Given the description of an element on the screen output the (x, y) to click on. 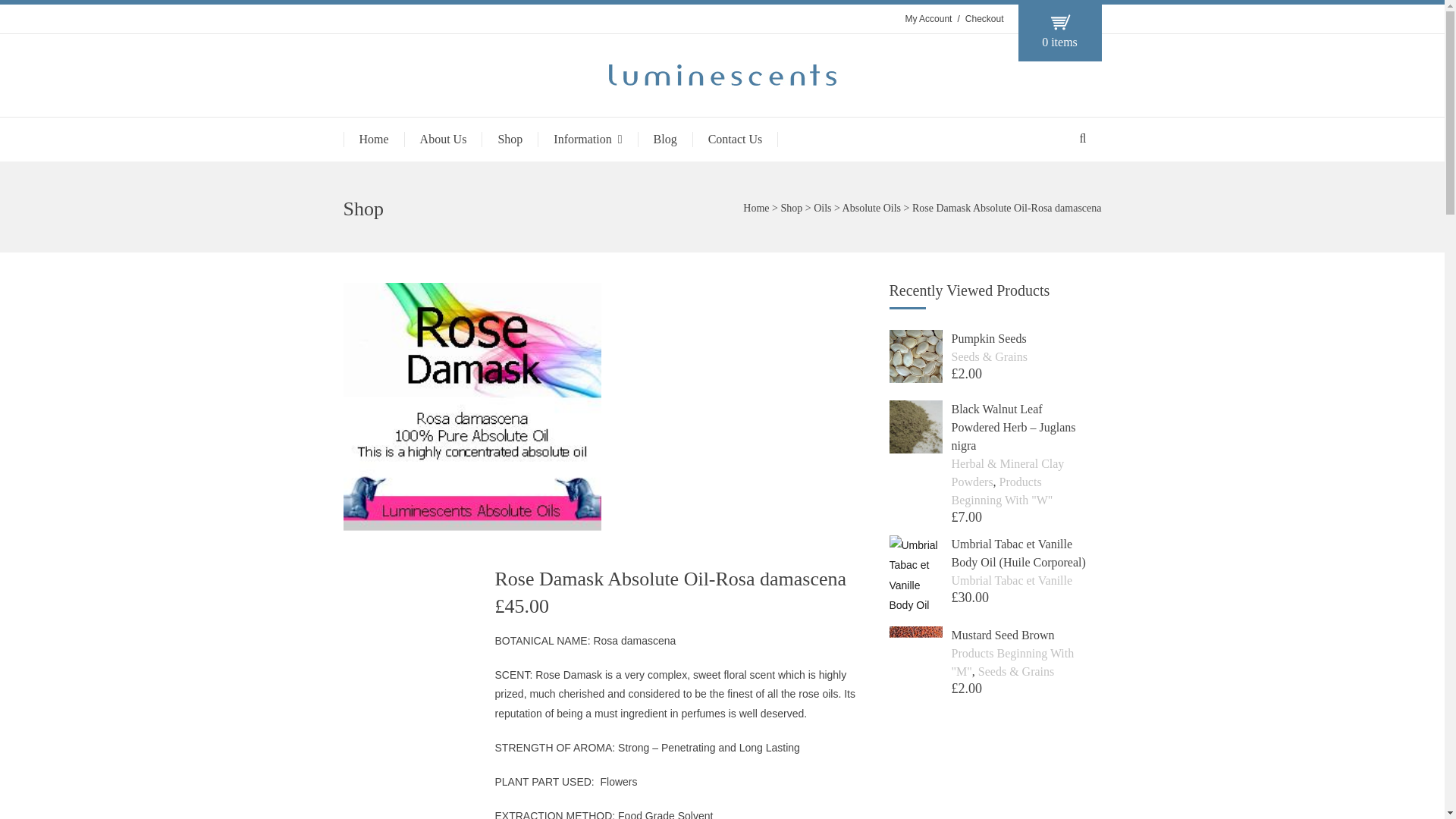
My Account (928, 18)
Blog (665, 139)
Oils (822, 207)
About Us (442, 139)
Information (587, 139)
0 items (1058, 32)
Home (372, 139)
Shop (791, 207)
Checkout (984, 18)
Absolute Oils (872, 207)
rose damask (470, 406)
Contact Us (735, 139)
Home (755, 207)
Shop (509, 139)
